Given the description of an element on the screen output the (x, y) to click on. 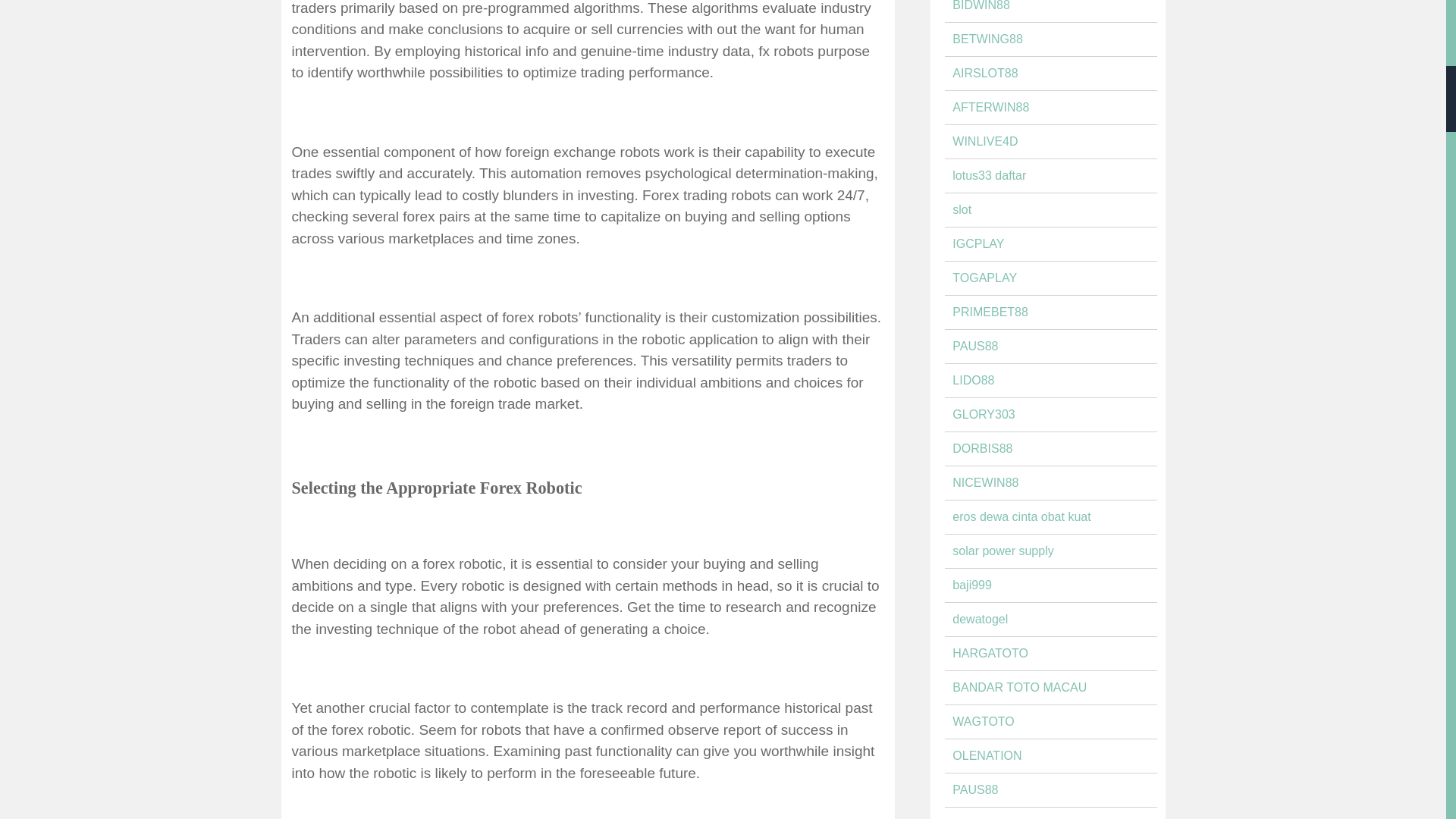
BIDWIN88 (981, 5)
BETWING88 (987, 38)
